Given the description of an element on the screen output the (x, y) to click on. 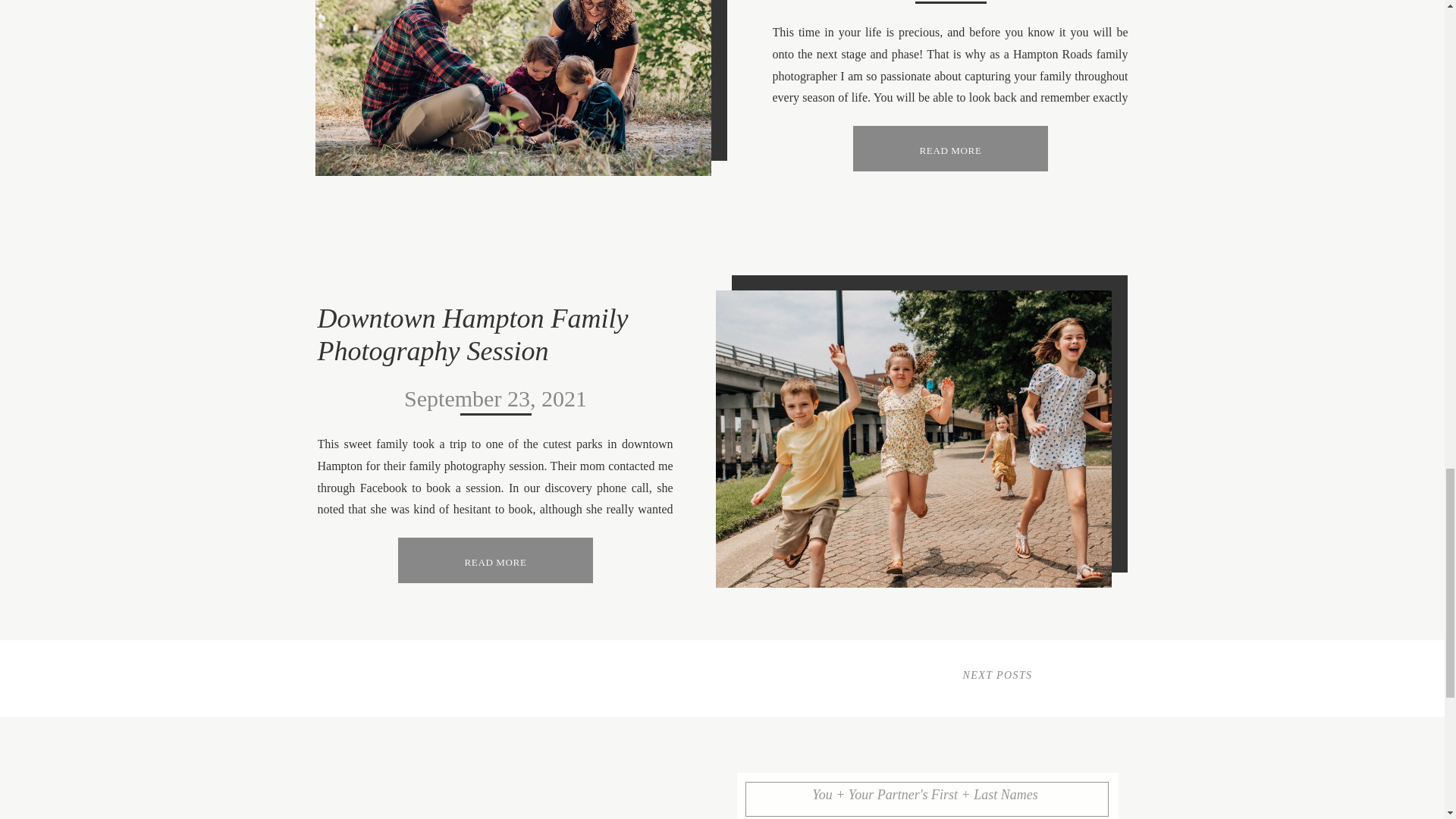
READ MORE (494, 560)
Top 5 Tips To Plan Family Photo Outfits (948, 148)
Downtown Hampton Family Photography Session (472, 334)
Top 5 Tips To Plan Family Photo Outfits (949, 148)
Downtown Hampton Family Photography Session (494, 560)
Top 5 Tips To Plan Family Photo Outfits (513, 88)
Downtown Hampton Family Photography Session (494, 560)
Downtown Hampton Family Photography Session (914, 439)
READ MORE (949, 148)
NEXT POSTS (997, 674)
